Given the description of an element on the screen output the (x, y) to click on. 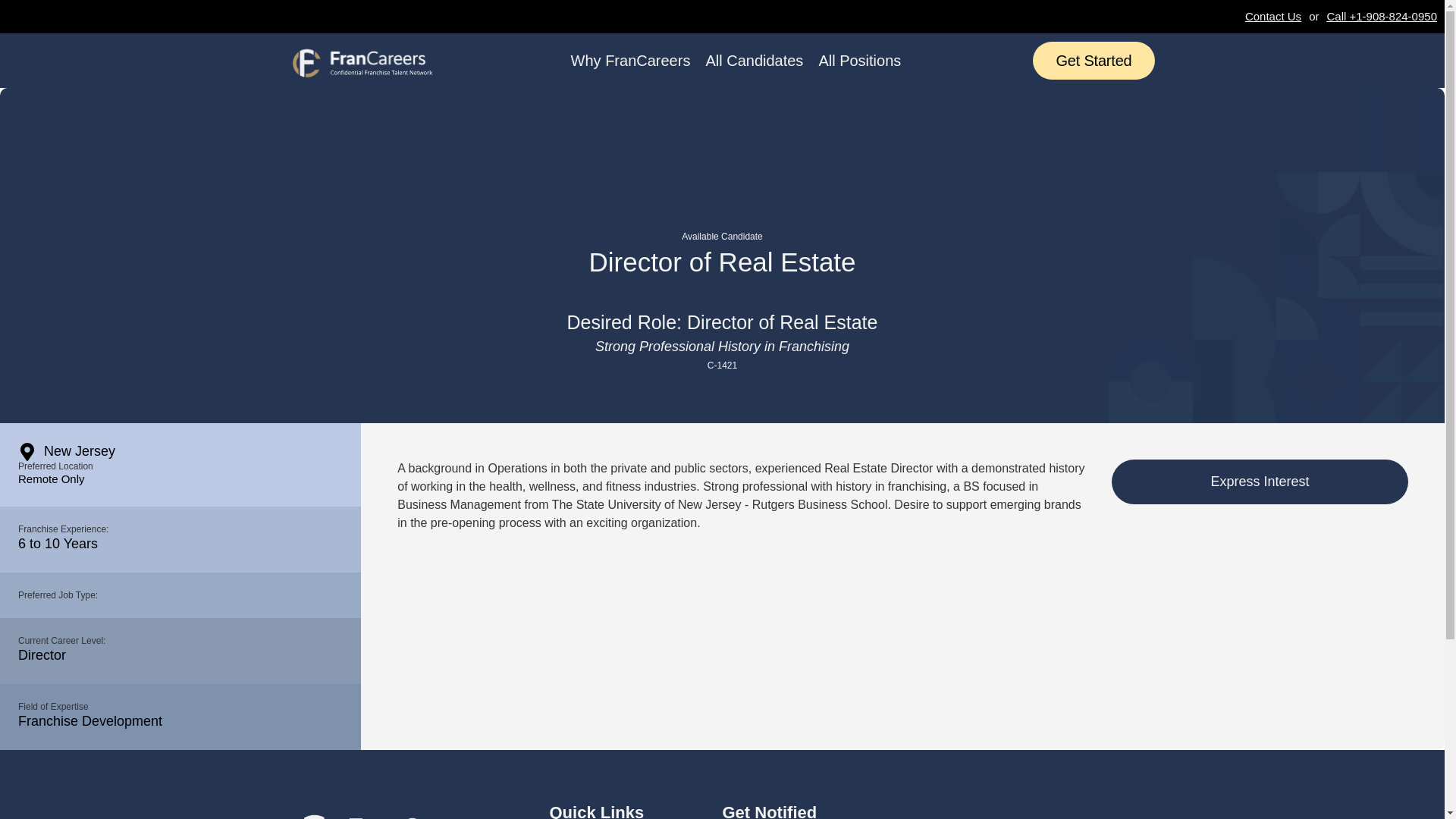
Why FranCareers (630, 60)
Contact Us (1272, 16)
Get Started (1093, 60)
Express Interest (1259, 481)
All Candidates (753, 60)
All Positions (859, 60)
